Given the description of an element on the screen output the (x, y) to click on. 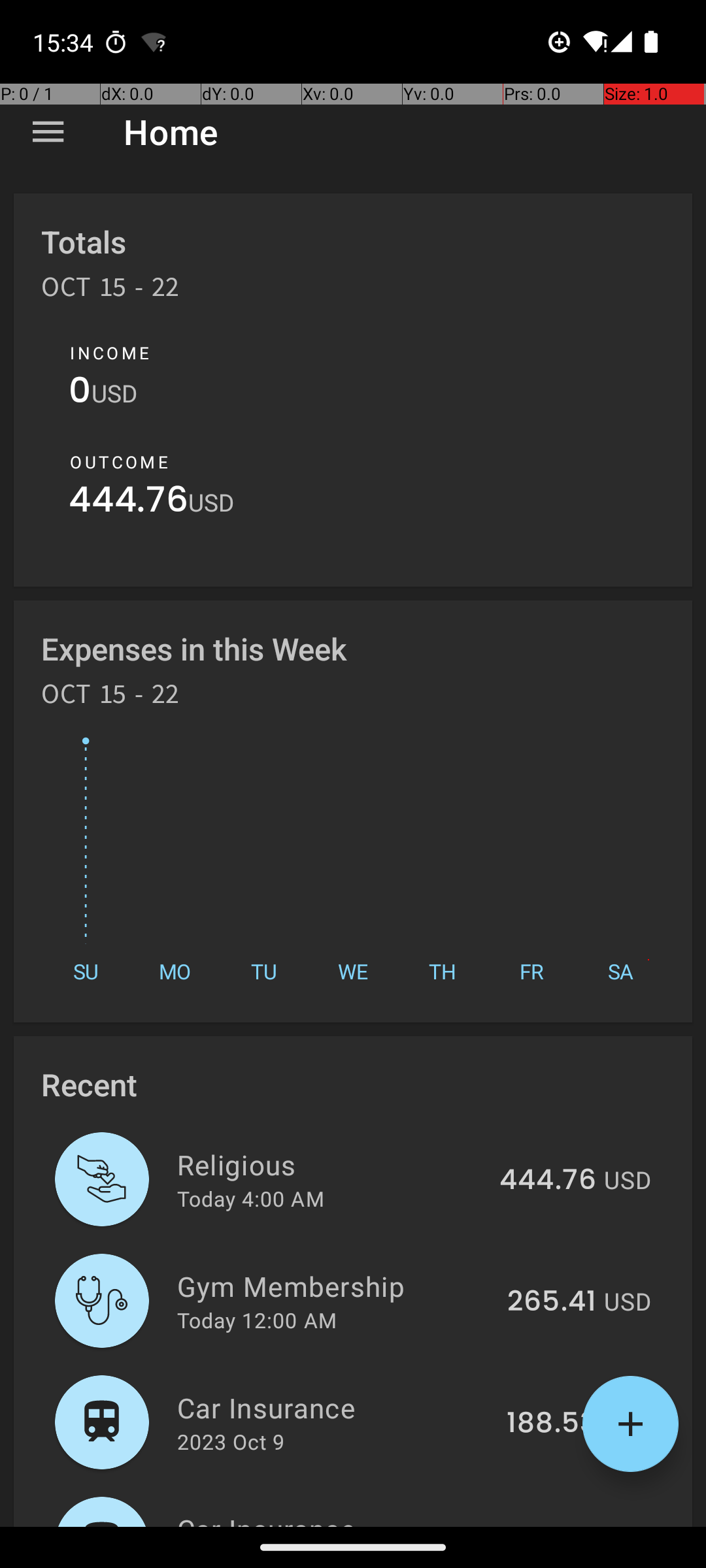
444.76 Element type: android.widget.TextView (128, 502)
Gym Membership Element type: android.widget.TextView (334, 1285)
Today 12:00 AM Element type: android.widget.TextView (256, 1320)
265.41 Element type: android.widget.TextView (551, 1301)
188.53 Element type: android.widget.TextView (550, 1423)
